Given the description of an element on the screen output the (x, y) to click on. 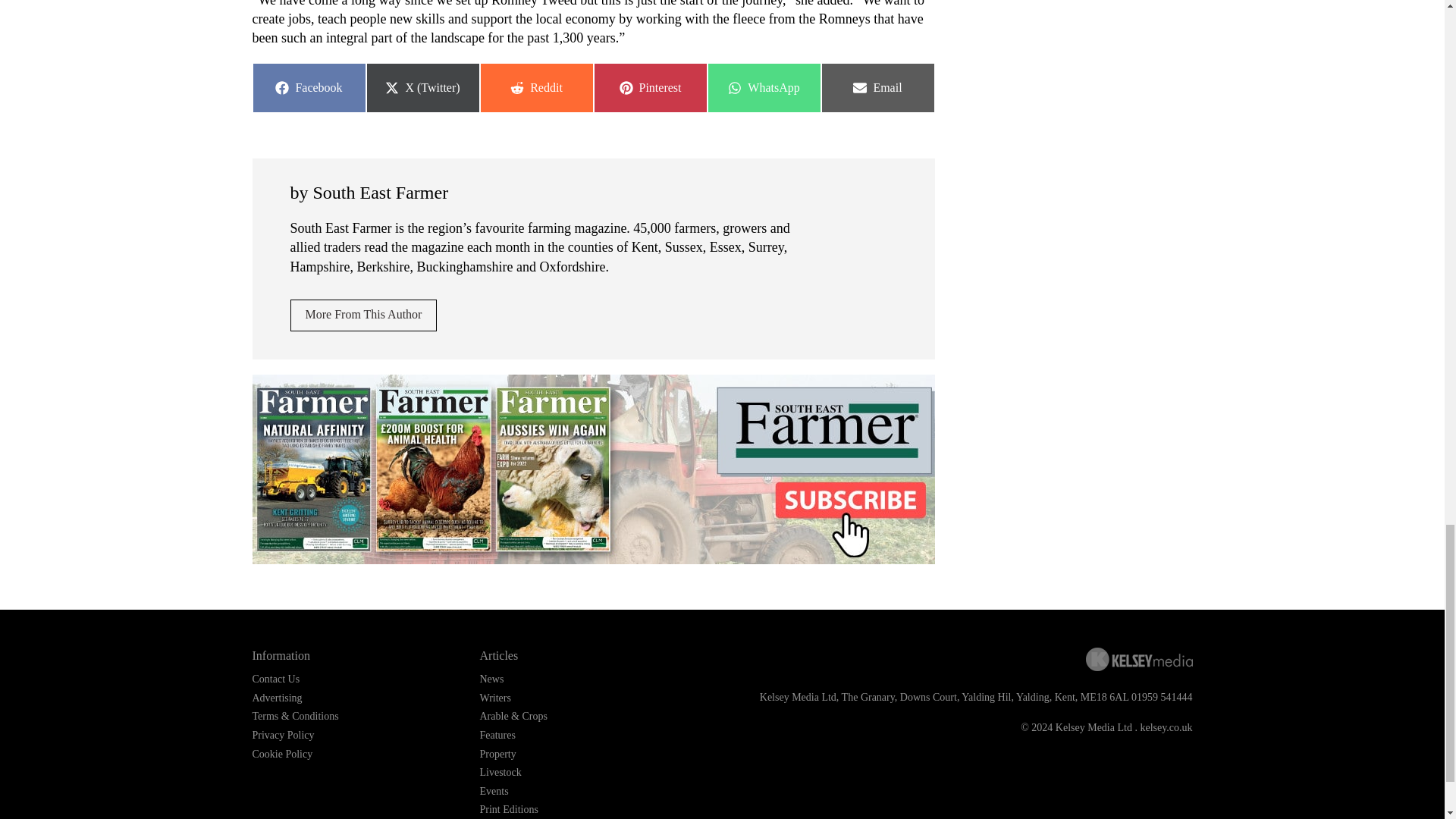
More From This Author (308, 88)
Contact Us (535, 88)
Advertising (362, 315)
